Given the description of an element on the screen output the (x, y) to click on. 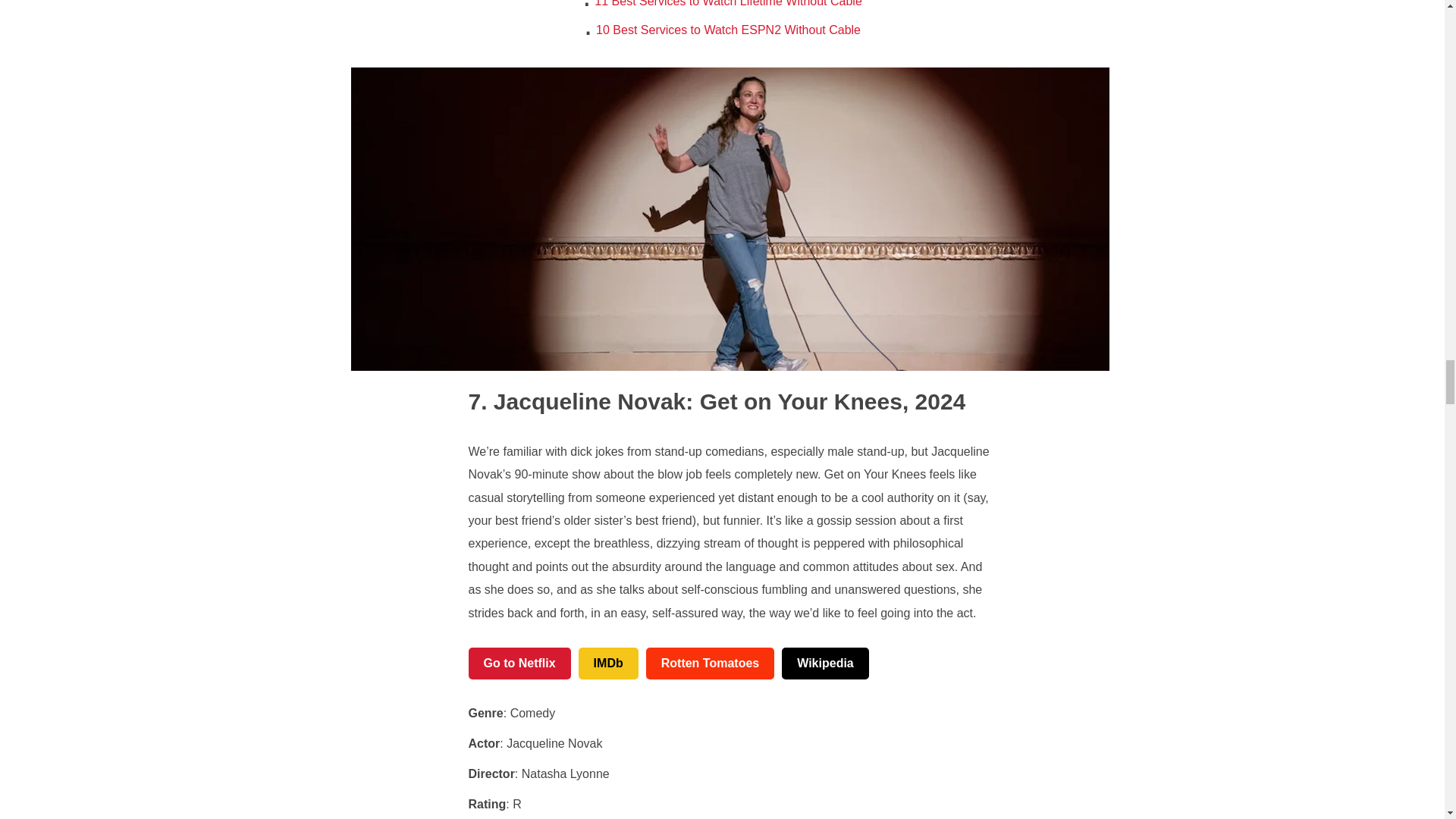
Jacqueline Novak: Get on Your Knees (685, 401)
